Given the description of an element on the screen output the (x, y) to click on. 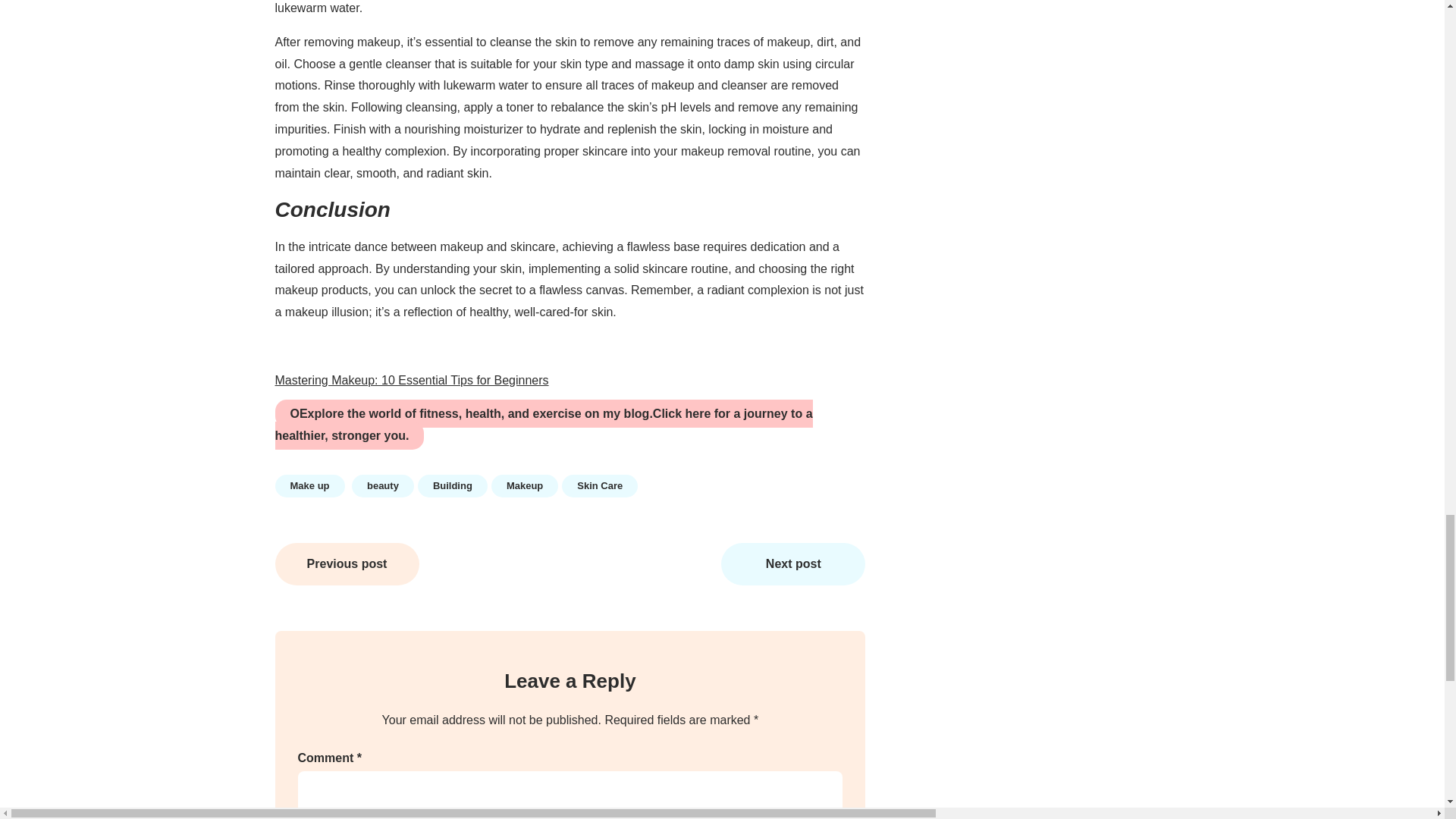
Building (452, 486)
Skin Care (599, 486)
Make up (309, 486)
Next post (792, 563)
Makeup (524, 486)
Mastering Makeup: 10 Essential Tips for Beginners (411, 379)
beauty (382, 486)
Previous post (347, 563)
